Given the description of an element on the screen output the (x, y) to click on. 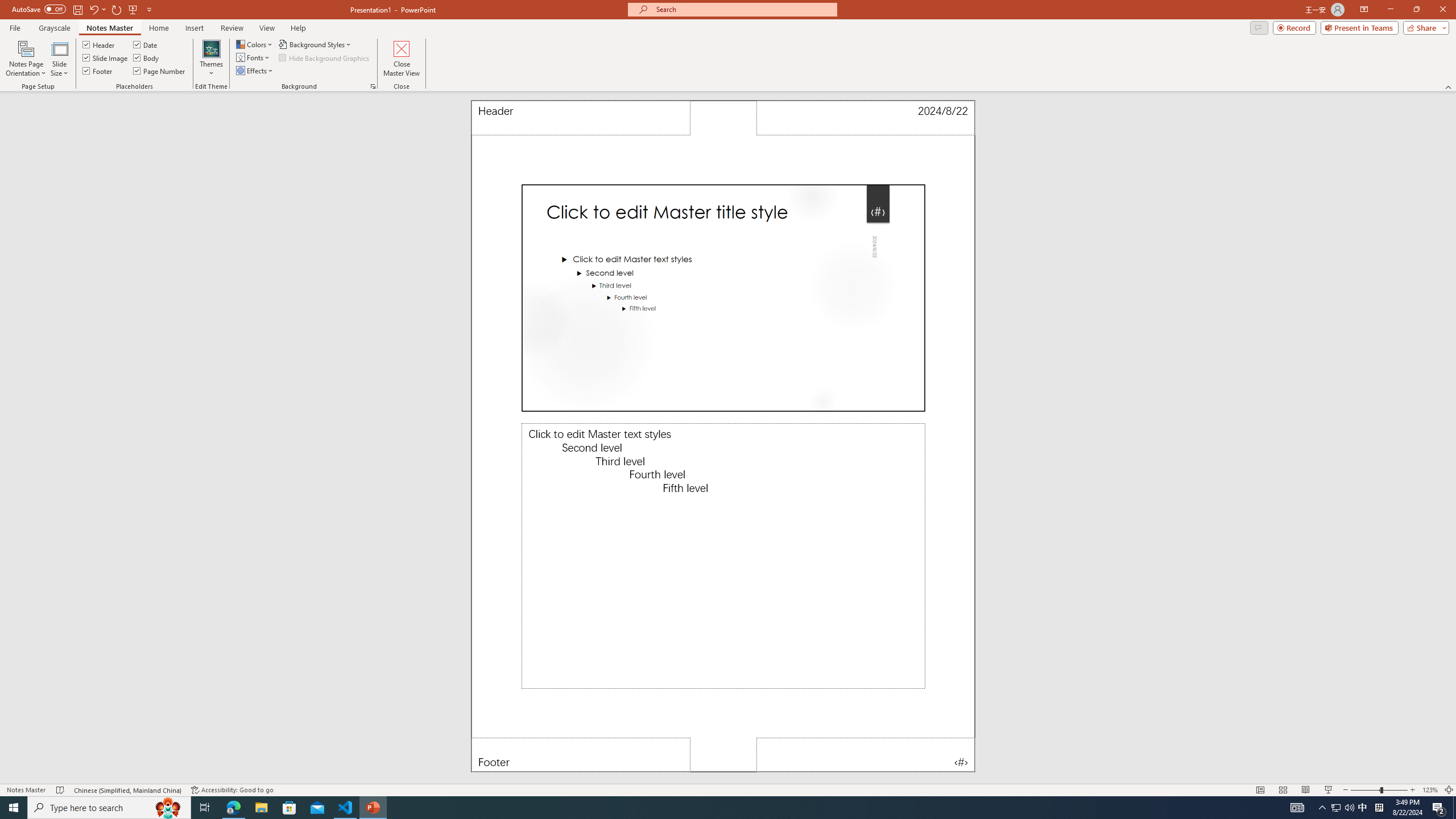
Effects (255, 69)
Grayscale (54, 28)
Slide Size (59, 58)
Notes Master (108, 28)
Page Number (160, 69)
Header (98, 44)
